Given the description of an element on the screen output the (x, y) to click on. 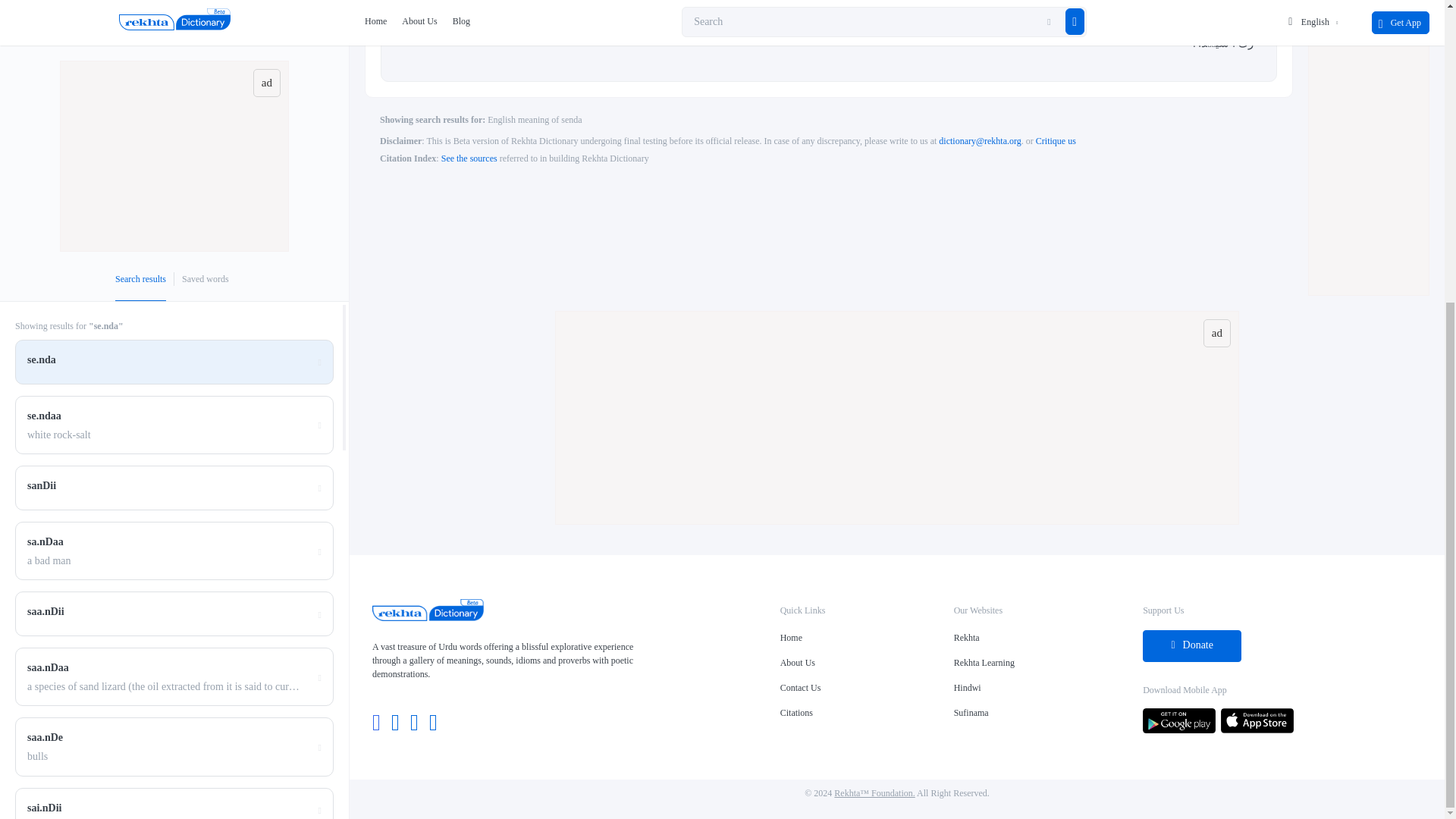
Citation (469, 158)
Critique us (1055, 140)
logo (427, 617)
